Given the description of an element on the screen output the (x, y) to click on. 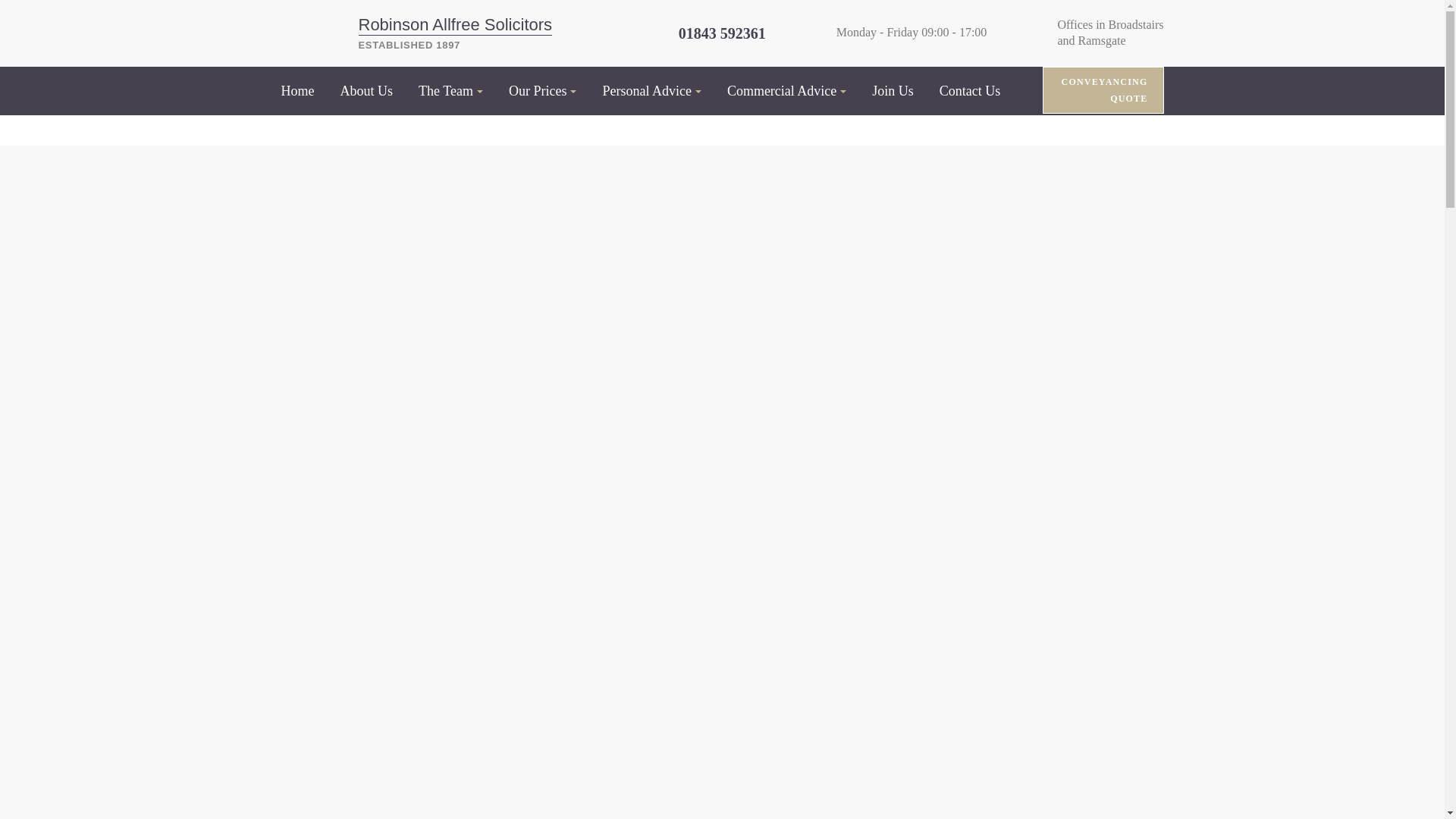
Contact Us (970, 90)
Conveyancing Estimate (1102, 89)
Our Prices (542, 90)
Personal Advice (651, 90)
About Us (365, 90)
Commercial Advice (786, 90)
Join Us (893, 90)
Home (296, 90)
CONVEYANCING QUOTE (1102, 89)
The Team (450, 90)
